Given the description of an element on the screen output the (x, y) to click on. 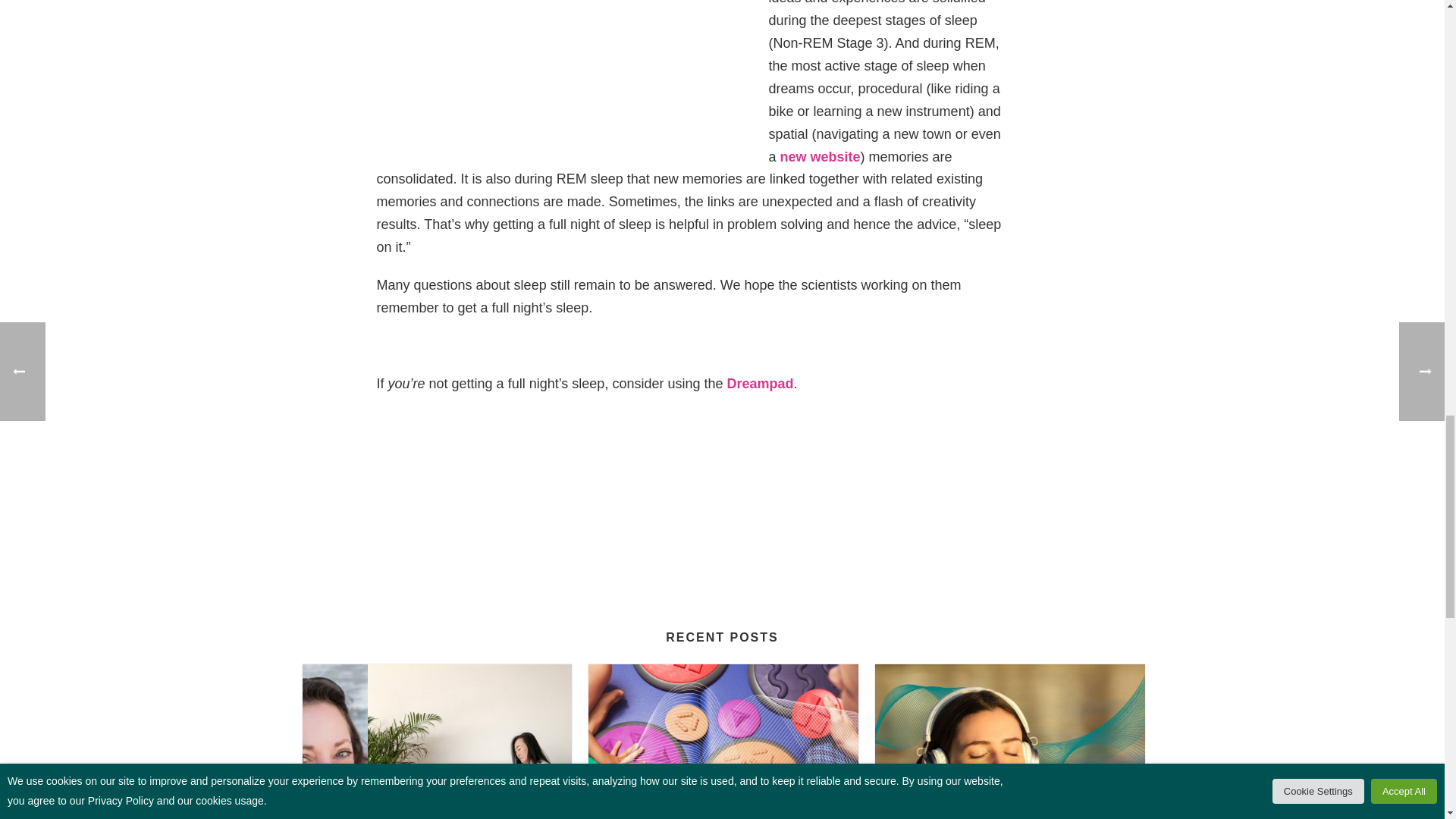
Live Webinar: How Anxiety Can Manifest in the Nervous System (436, 741)
